Given the description of an element on the screen output the (x, y) to click on. 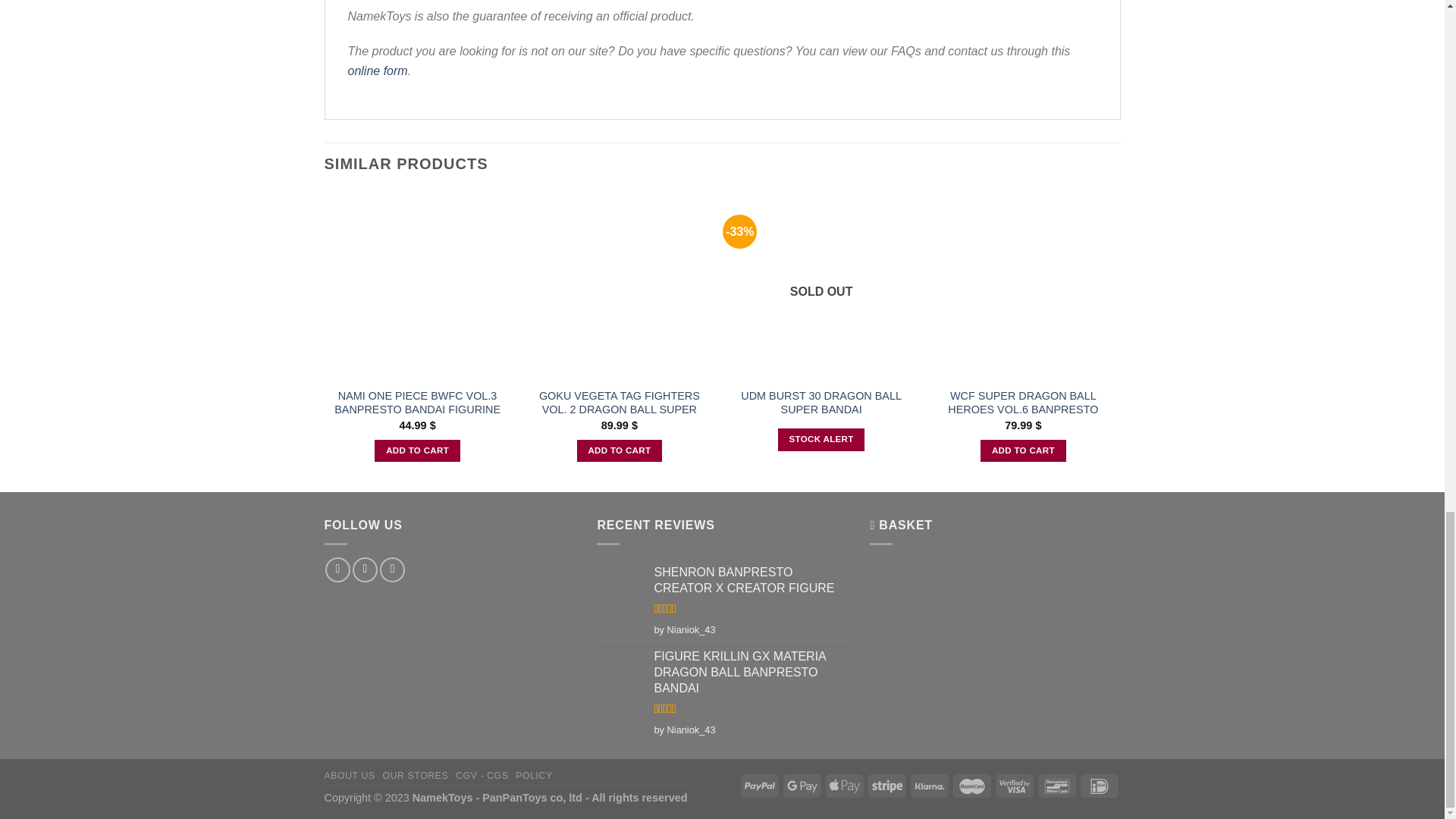
Follow us on Instagram (364, 569)
Follow us on Twitter (392, 569)
Follow us on Facebook (337, 569)
